Given the description of an element on the screen output the (x, y) to click on. 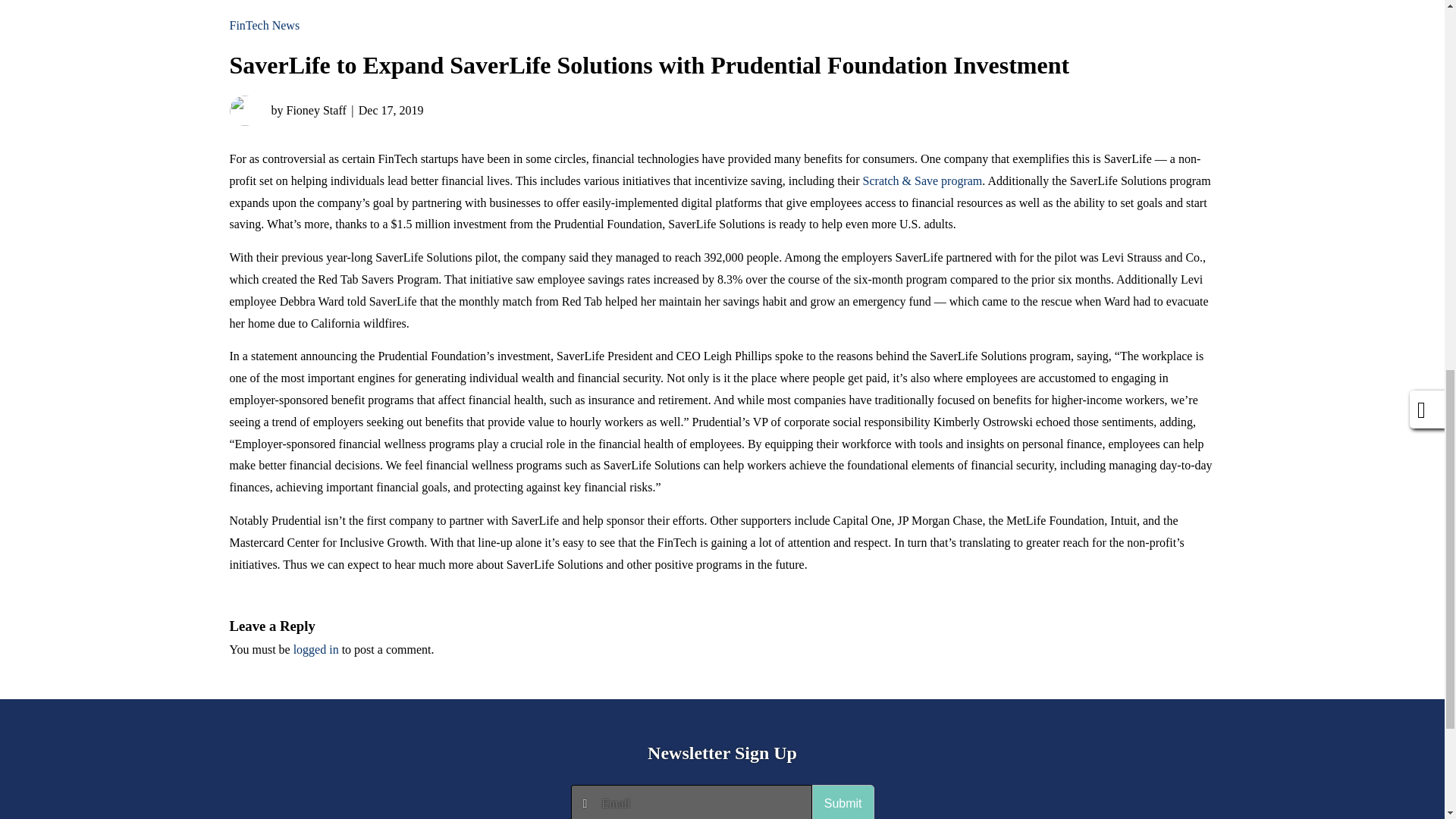
Submit (843, 801)
Posts by Fioney Staff (287, 110)
logged in (316, 649)
FinTech News (263, 24)
